Given the description of an element on the screen output the (x, y) to click on. 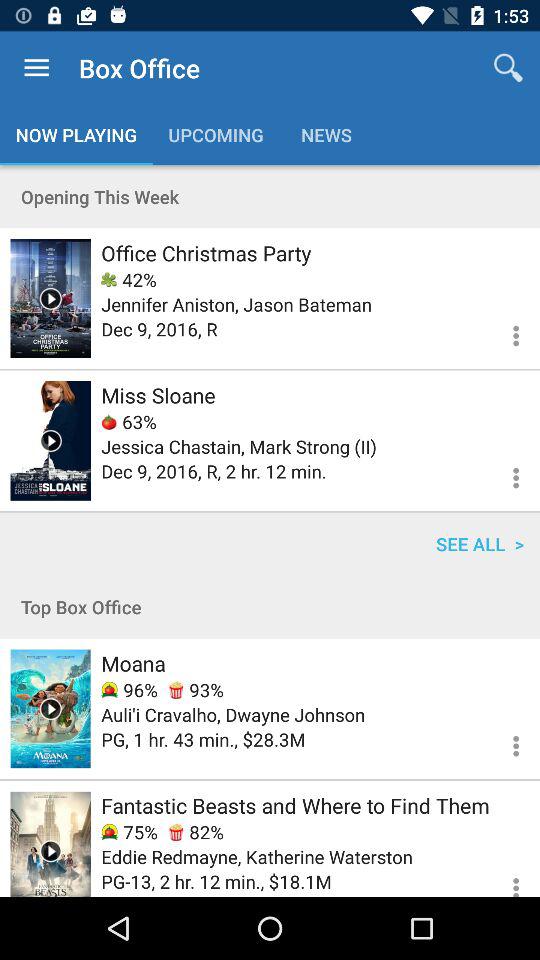
get more information (503, 878)
